Given the description of an element on the screen output the (x, y) to click on. 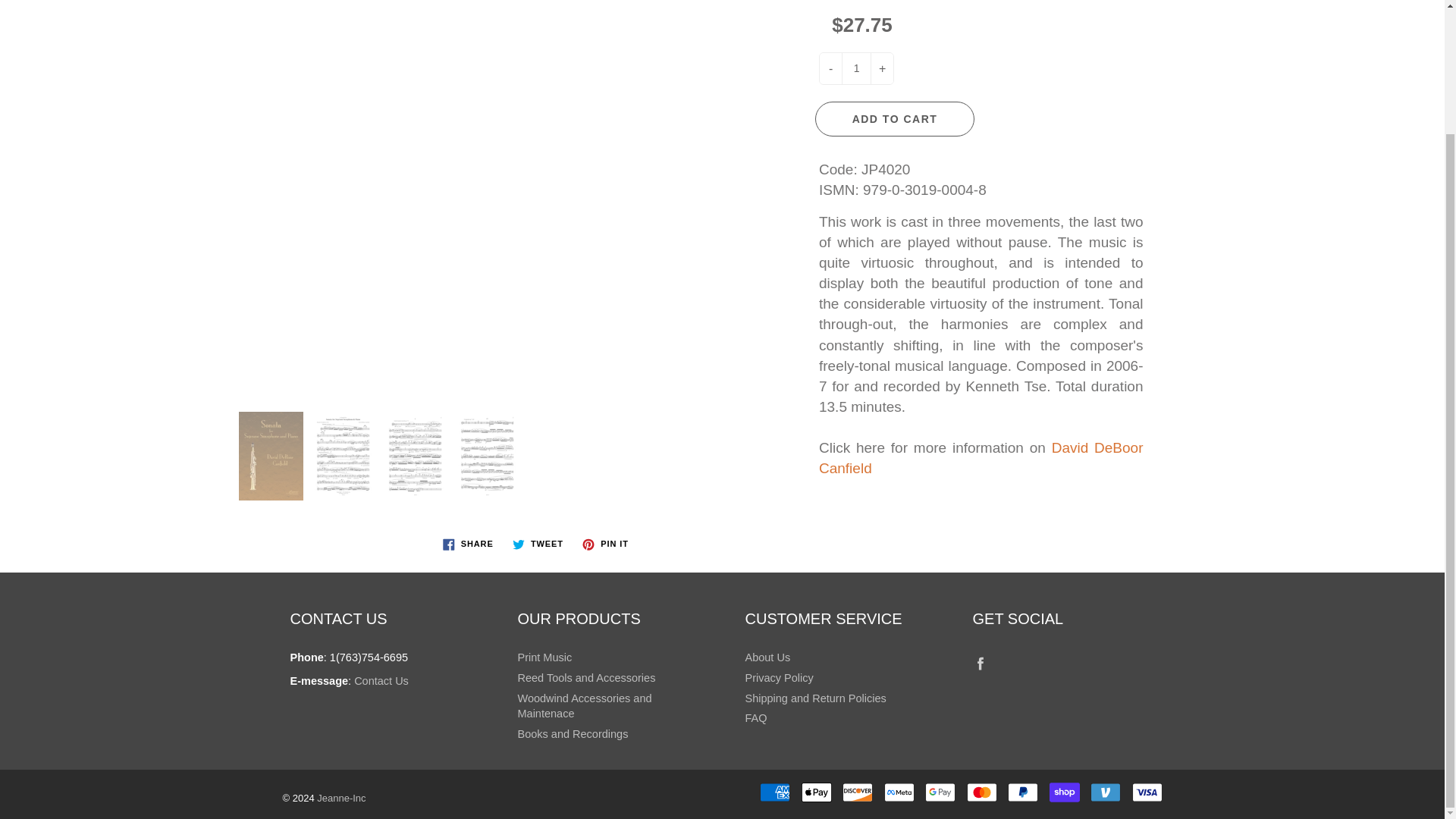
American Express (775, 792)
Mastercard (981, 792)
Tweet on Twitter (537, 544)
Visa (1146, 792)
Discover (857, 792)
Share on Facebook (467, 544)
Meta Pay (898, 792)
Google Pay (939, 792)
Apple Pay (816, 792)
Shop Pay (1064, 792)
